Given the description of an element on the screen output the (x, y) to click on. 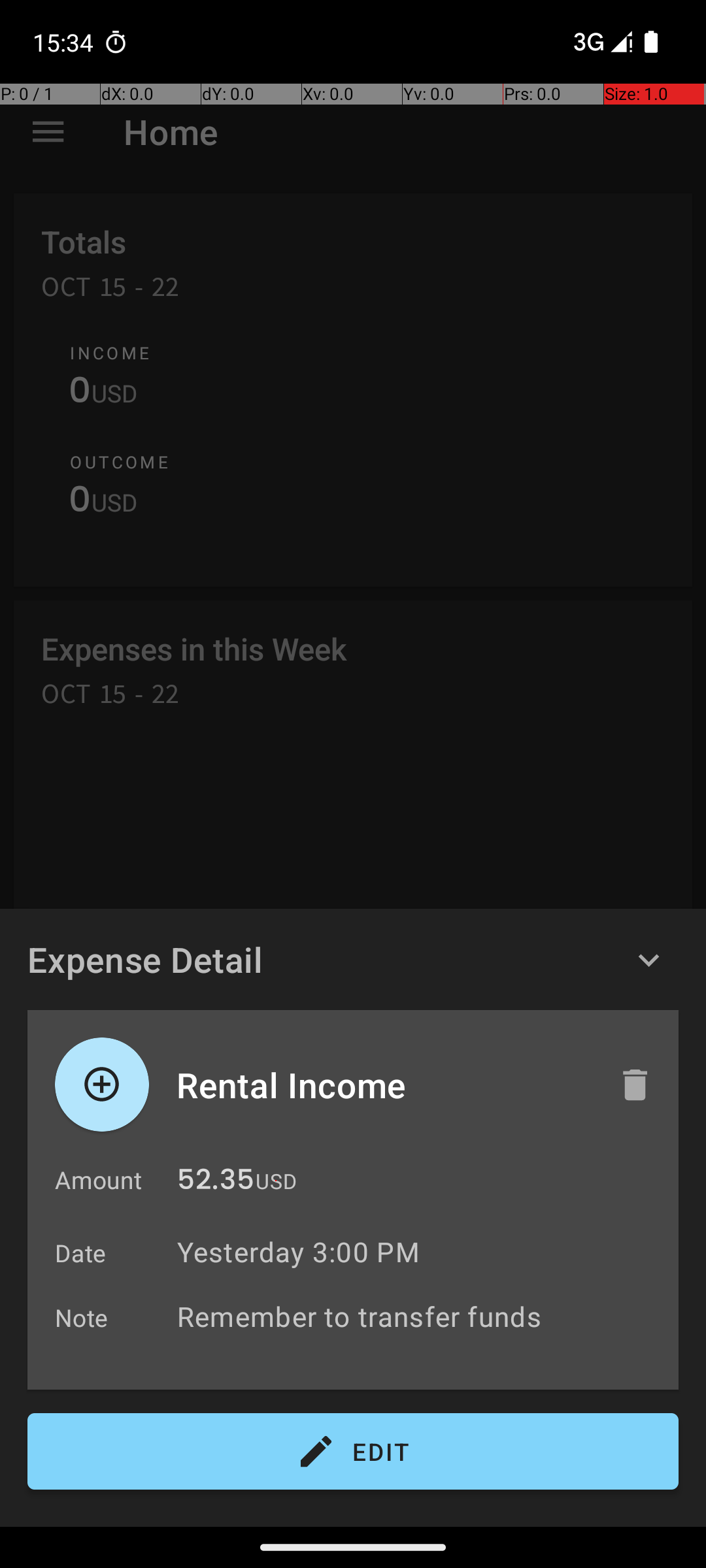
52.35 Element type: android.widget.TextView (215, 1182)
Yesterday 3:00 PM Element type: android.widget.TextView (298, 1251)
